Given the description of an element on the screen output the (x, y) to click on. 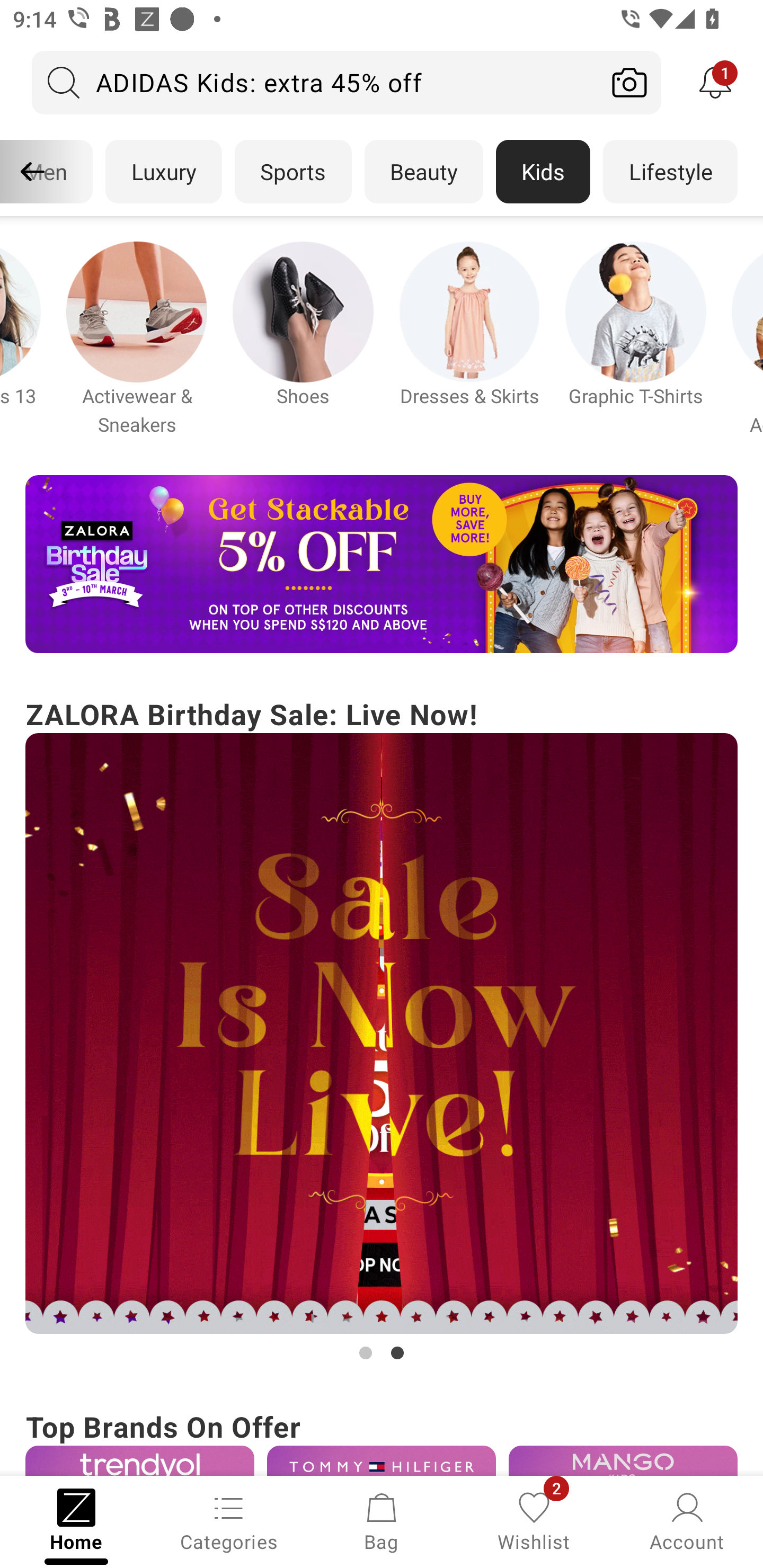
ADIDAS Kids: extra 45% off (314, 82)
Luxury (163, 171)
Sports (293, 171)
Beauty (423, 171)
Kids (542, 171)
Lifestyle (669, 171)
Campaign banner (136, 311)
Campaign banner (302, 311)
Campaign banner (469, 311)
Campaign banner (635, 311)
Campaign banner (381, 564)
ZALORA Birthday Sale: Live Now! Campaign banner (381, 1028)
Campaign banner (381, 1033)
Campaign banner (139, 1460)
Campaign banner (381, 1460)
Campaign banner (622, 1460)
Categories (228, 1519)
Bag (381, 1519)
Wishlist, 2 new notifications Wishlist (533, 1519)
Account (686, 1519)
